Given the description of an element on the screen output the (x, y) to click on. 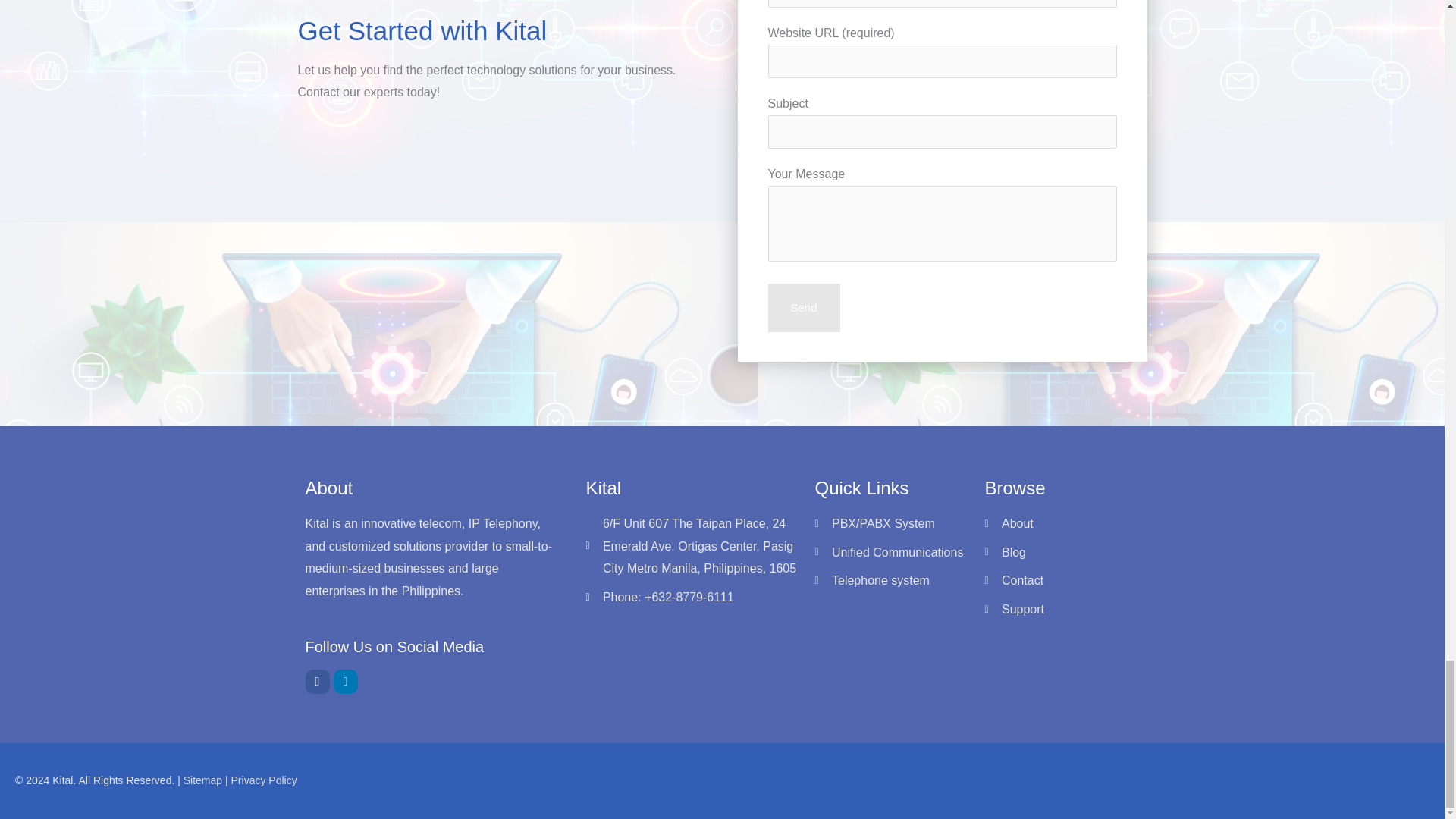
Send (803, 307)
